Given the description of an element on the screen output the (x, y) to click on. 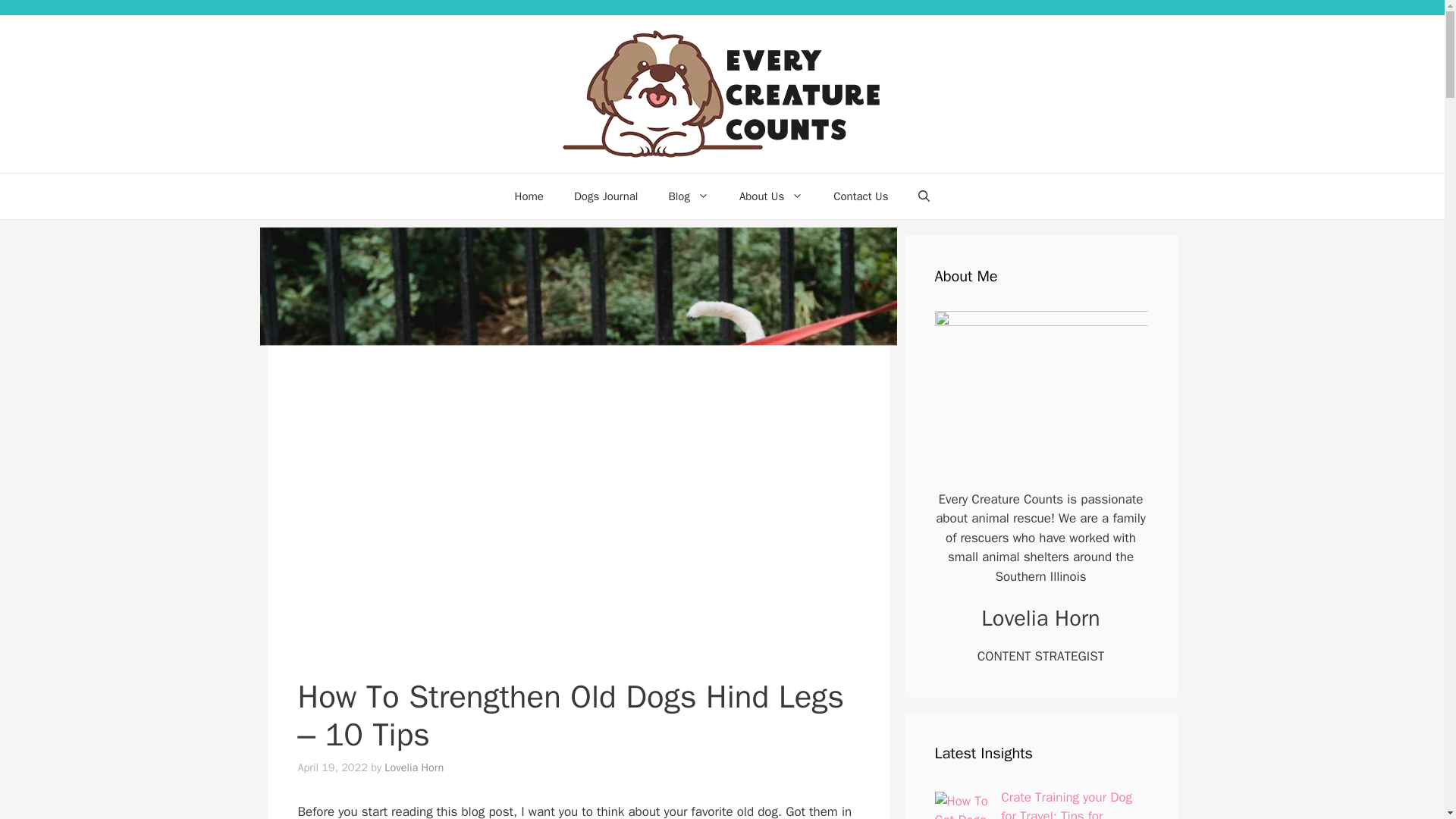
View all posts by Lovelia Horn (414, 766)
Lovelia Horn (414, 766)
Contact Us (860, 196)
Home (529, 196)
Dogs Journal (605, 196)
About Us (770, 196)
Blog (687, 196)
